Given the description of an element on the screen output the (x, y) to click on. 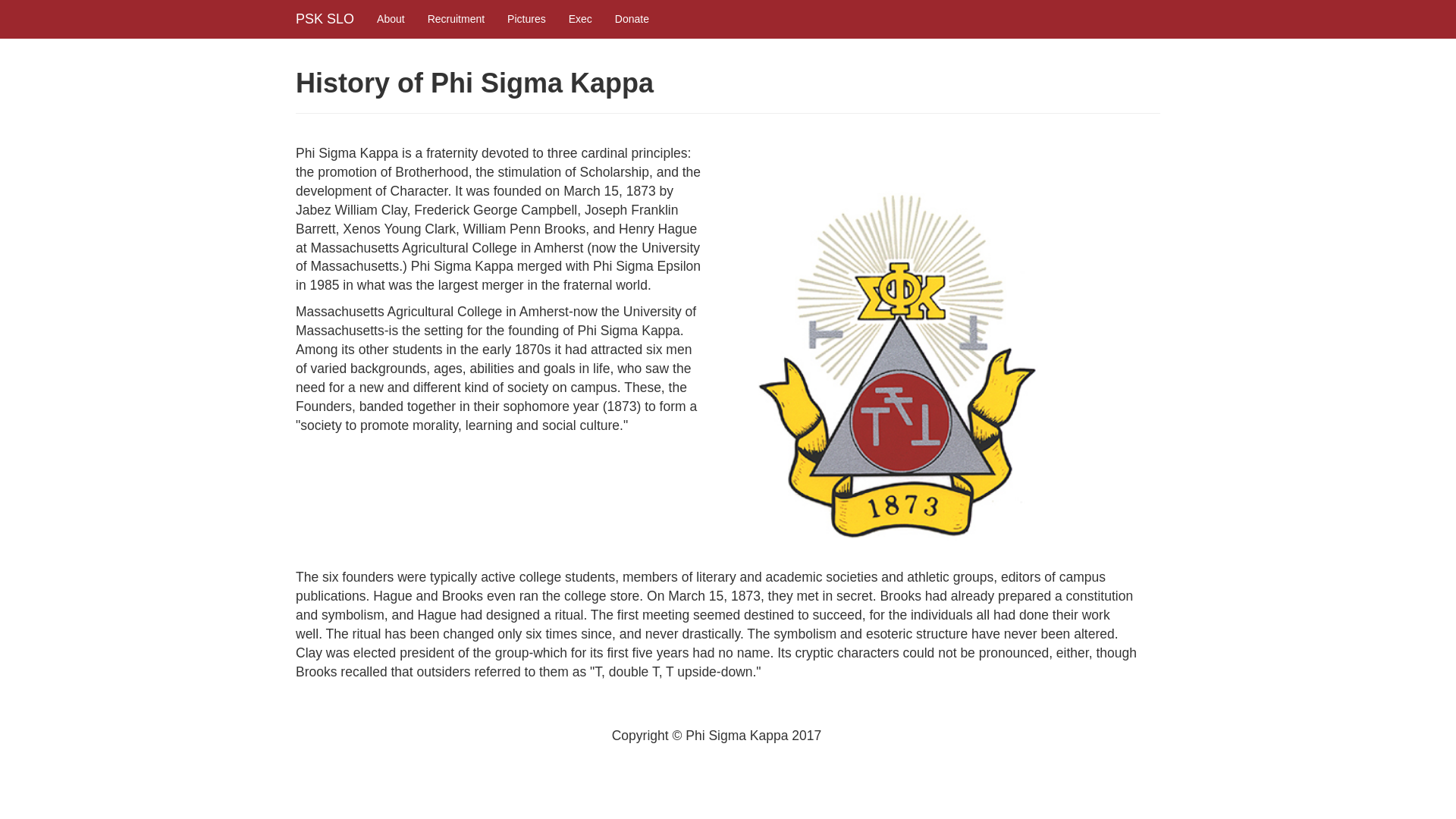
Exec (580, 18)
Donate (632, 18)
Recruitment (456, 18)
Pictures (526, 18)
About (390, 18)
PSK SLO (324, 18)
